Given the description of an element on the screen output the (x, y) to click on. 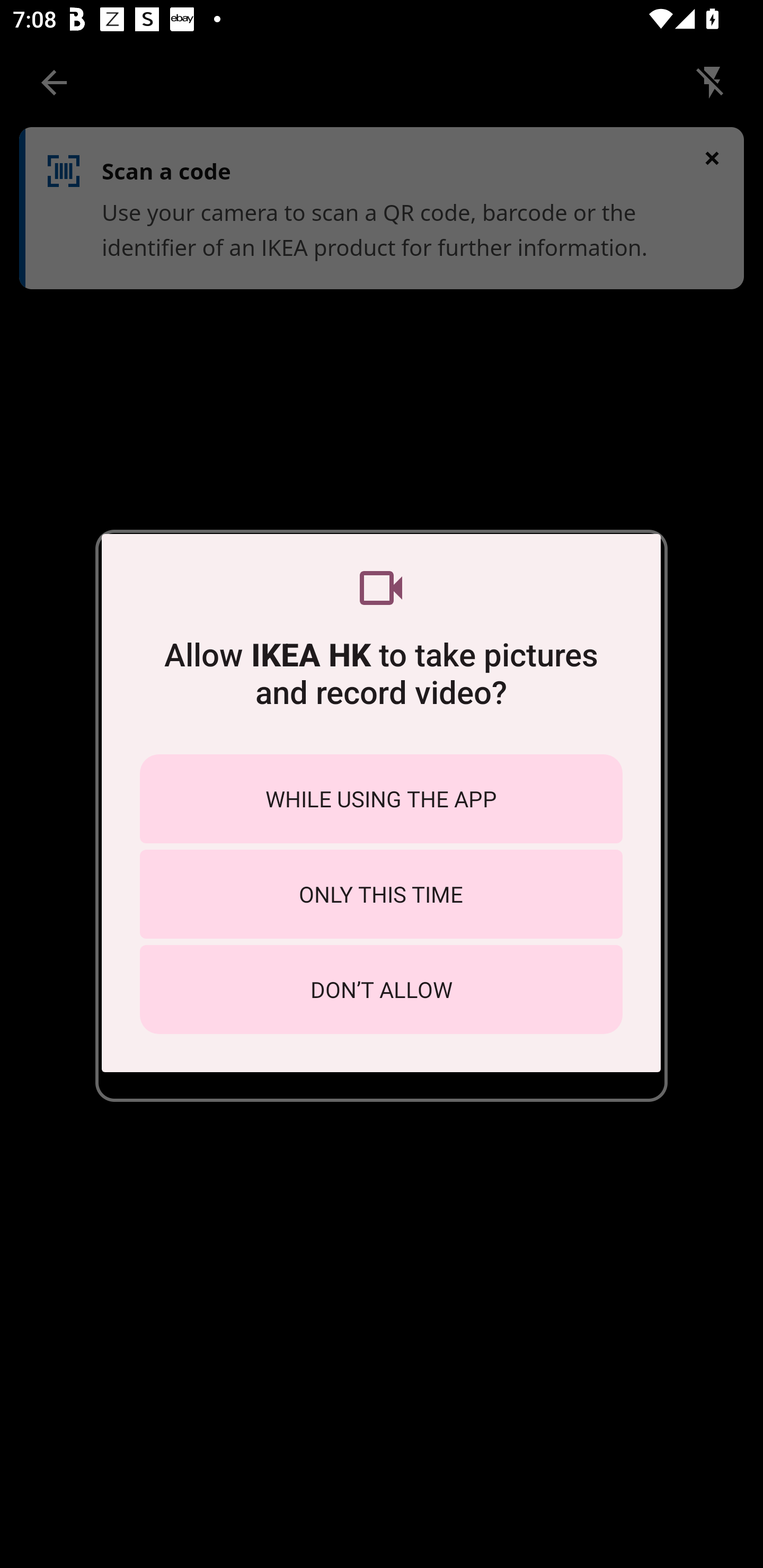
WHILE USING THE APP (380, 798)
ONLY THIS TIME (380, 894)
DON’T ALLOW (380, 989)
